Given the description of an element on the screen output the (x, y) to click on. 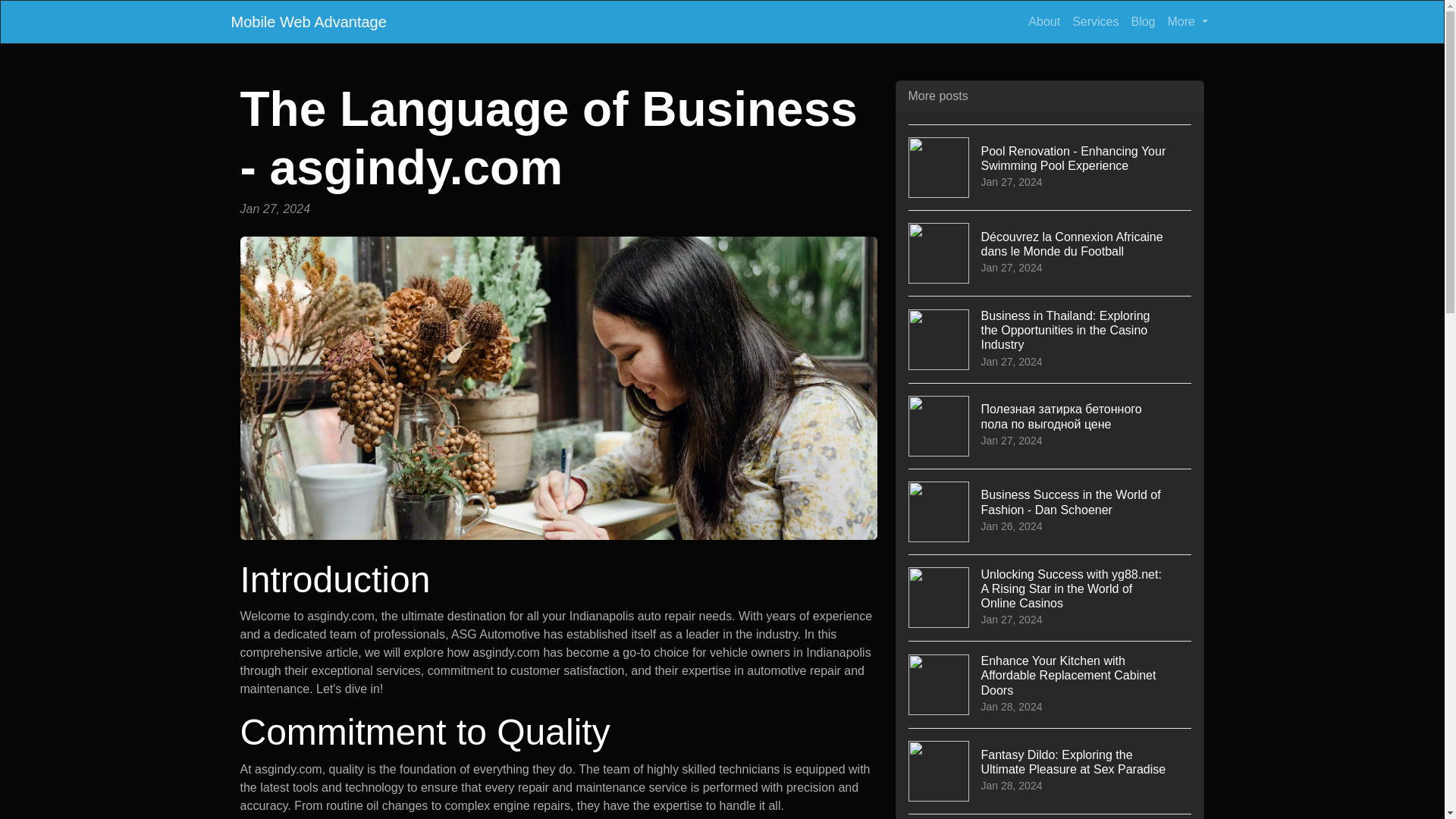
Blog (1142, 21)
Services (1094, 21)
About (1043, 21)
Mobile Web Advantage (307, 21)
More (1187, 21)
